Given the description of an element on the screen output the (x, y) to click on. 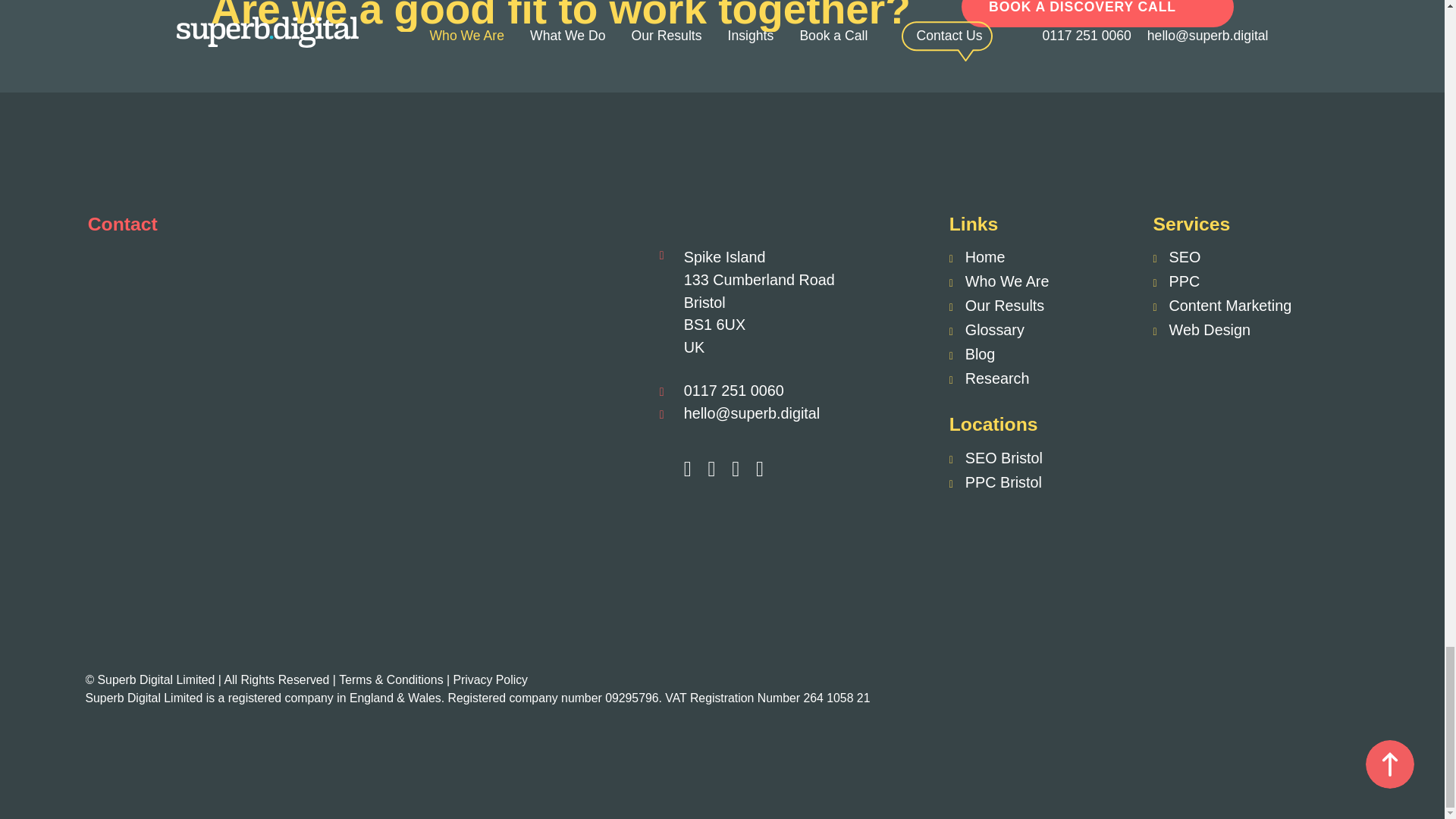
Who We Are (999, 280)
Our Results (997, 305)
0117 251 0060 (734, 390)
Home (977, 256)
BOOK A DISCOVERY CALL (1096, 13)
